Given the description of an element on the screen output the (x, y) to click on. 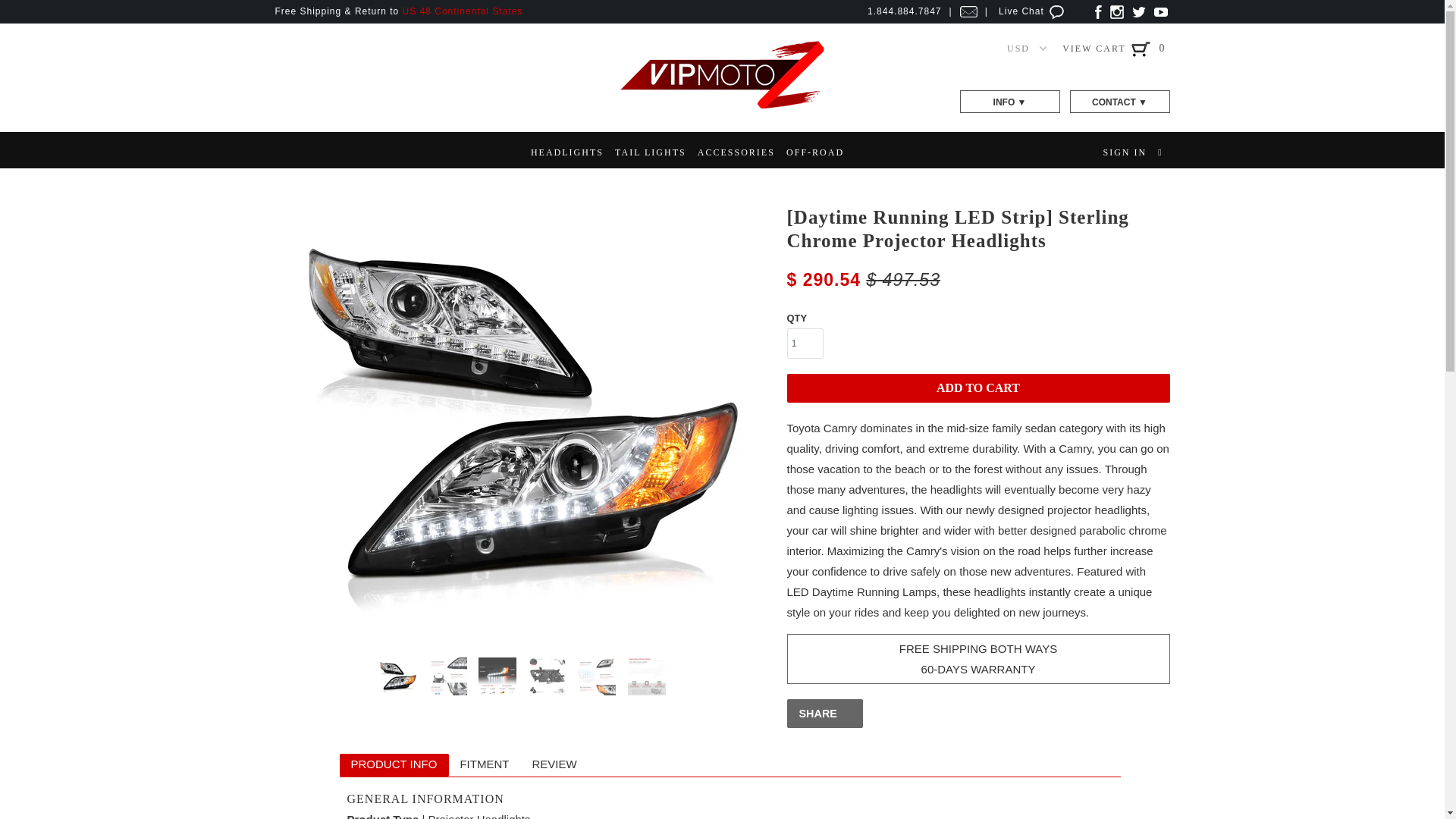
ACCESSORIES (735, 152)
Vipmotoz (722, 105)
My Account  (1124, 152)
Live Chat (1032, 10)
SIGN IN (1124, 152)
HEADLIGHTS (567, 152)
OFF-ROAD (815, 152)
1 (805, 343)
HEADLIGHTS (567, 152)
Vipmotoz on Youtube (1160, 10)
ACCESSORIES (735, 152)
TAIL LIGHTS (649, 152)
OFF-ROAD (815, 152)
Vipmotoz on Instagram (1116, 10)
